Given the description of an element on the screen output the (x, y) to click on. 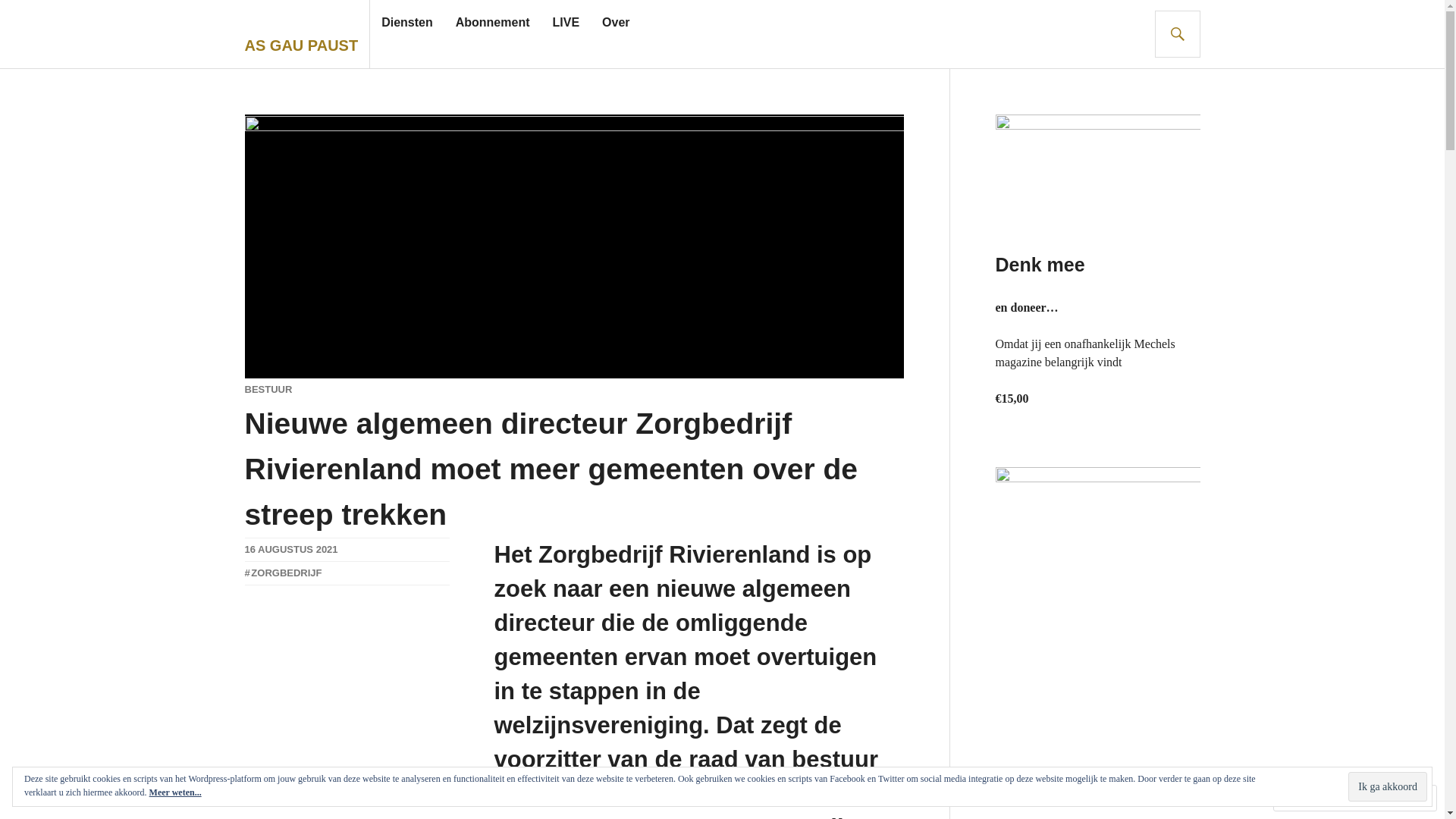
Over Element type: text (615, 22)
Abonnement Element type: text (492, 22)
BESTUUR Element type: text (267, 389)
Diensten Element type: text (407, 22)
Meer weten... Element type: text (175, 792)
Reactie Element type: text (1310, 797)
Volg Element type: text (1377, 797)
AGP Element type: text (254, 572)
AS GAU PAUST Element type: text (300, 45)
16 AUGUSTUS 2021 Element type: text (290, 549)
Ik ga akkoord Element type: text (1387, 786)
ZORGBEDRIJF Element type: text (282, 572)
LIVE Element type: text (565, 22)
